Given the description of an element on the screen output the (x, y) to click on. 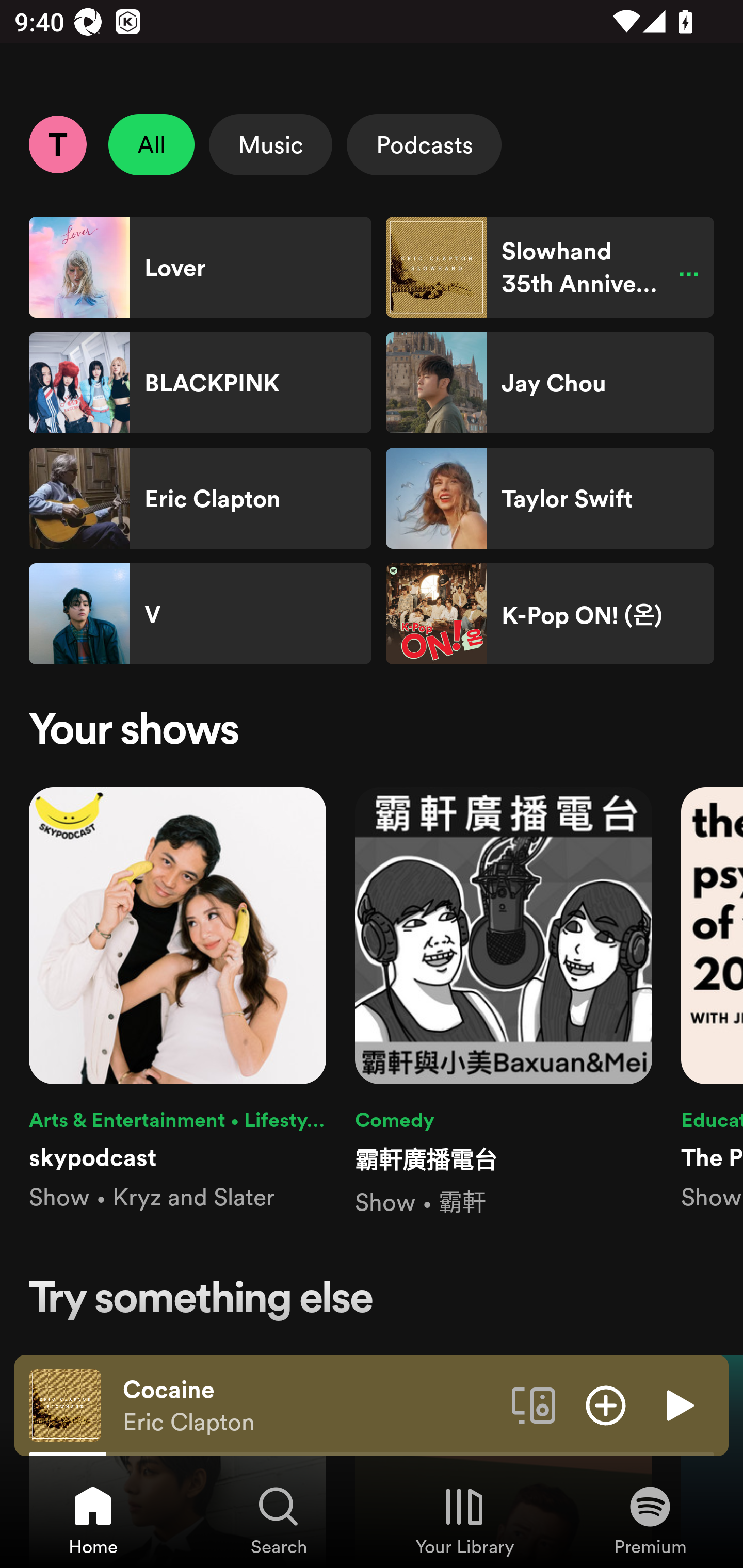
Profile (57, 144)
All Unselect All (151, 144)
Music Select Music (270, 144)
Podcasts Select Podcasts (423, 144)
Lover Shortcut Lover (199, 267)
BLACKPINK Shortcut BLACKPINK (199, 382)
Jay Chou Shortcut Jay Chou (549, 382)
Eric Clapton Shortcut Eric Clapton (199, 498)
Taylor Swift Shortcut Taylor Swift (549, 498)
V Shortcut V (199, 613)
K-Pop ON! (온) Shortcut K-Pop ON! (온) (549, 613)
Comedy 霸軒廣播電台 Show • 霸軒 (503, 1002)
Cocaine Eric Clapton (309, 1405)
The cover art of the currently playing track (64, 1404)
Connect to a device. Opens the devices menu (533, 1404)
Add item (605, 1404)
Play (677, 1404)
Home, Tab 1 of 4 Home Home (92, 1519)
Search, Tab 2 of 4 Search Search (278, 1519)
Your Library, Tab 3 of 4 Your Library Your Library (464, 1519)
Premium, Tab 4 of 4 Premium Premium (650, 1519)
